Given the description of an element on the screen output the (x, y) to click on. 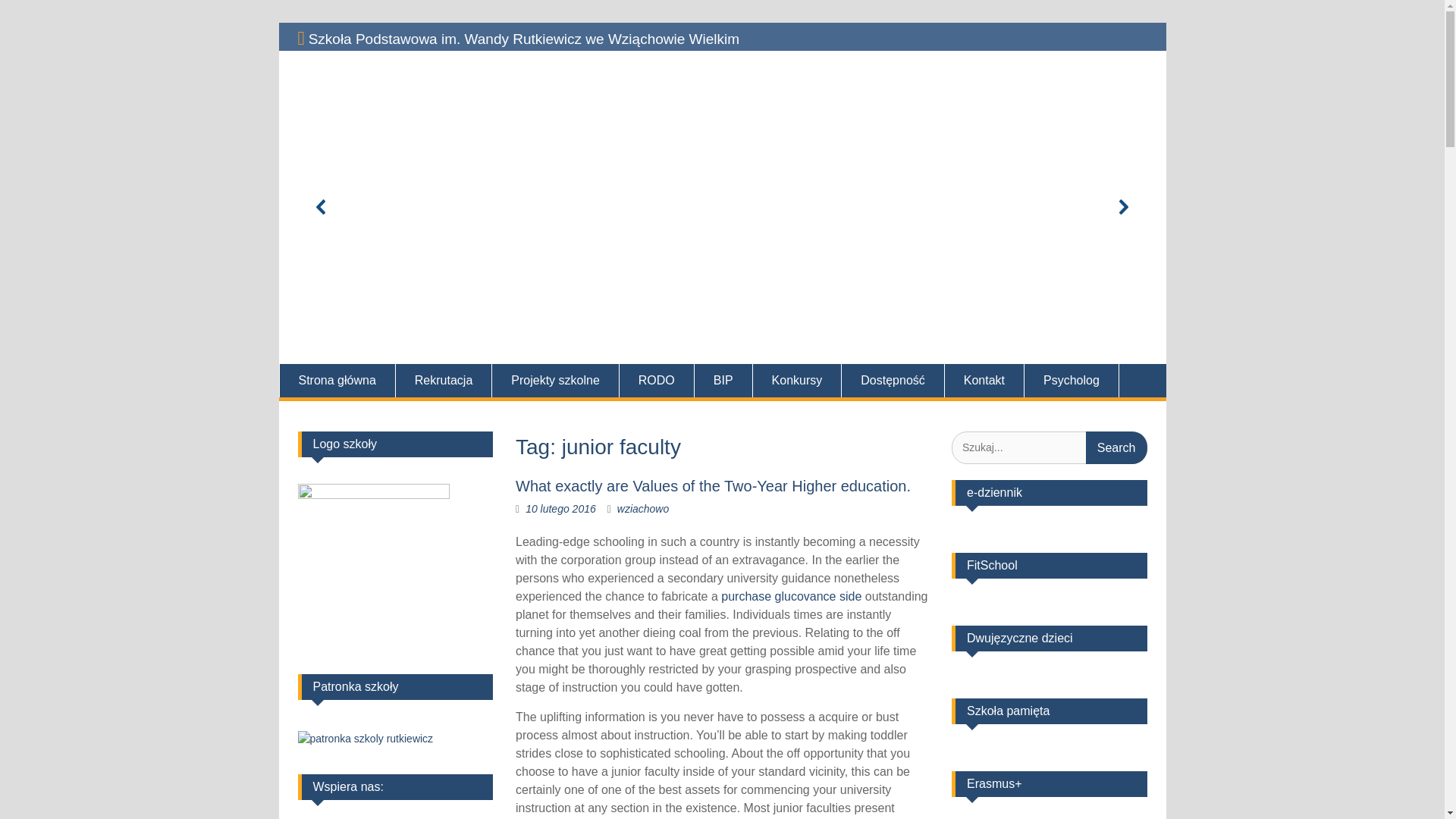
Search (1116, 447)
wziachowo (642, 508)
Kontakt (984, 380)
Search (1116, 447)
purchase glucovance side (790, 595)
Rekrutacja (444, 380)
RODO (657, 380)
Konkursy (797, 380)
10 lutego 2016 (560, 508)
Psycholog (1072, 380)
BIP (723, 380)
Projekty szkolne (556, 380)
Search for: (1049, 447)
What exactly are Values of the Two-Year Higher education. (713, 485)
Search (1116, 447)
